Given the description of an element on the screen output the (x, y) to click on. 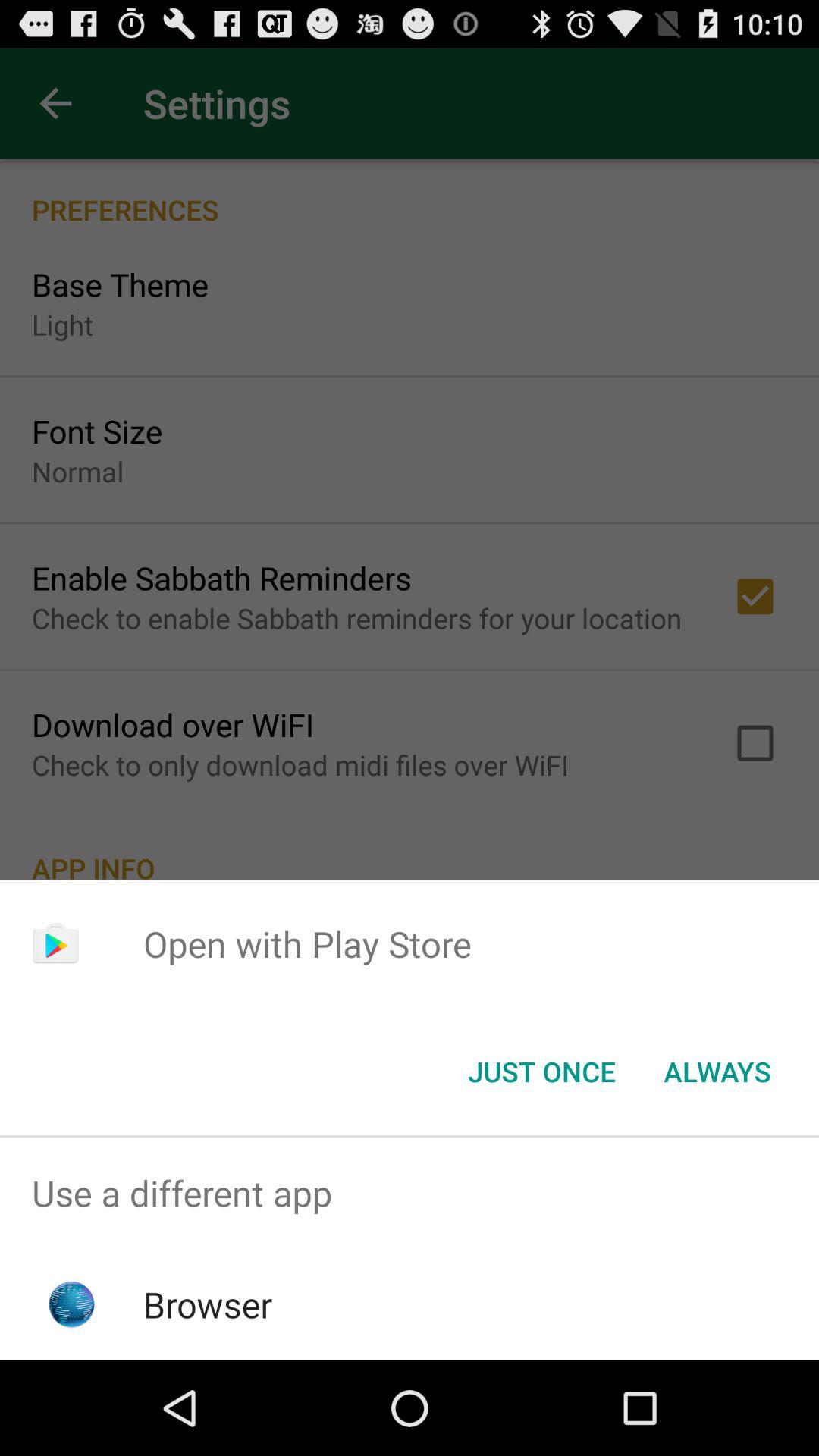
jump to the just once icon (541, 1071)
